Given the description of an element on the screen output the (x, y) to click on. 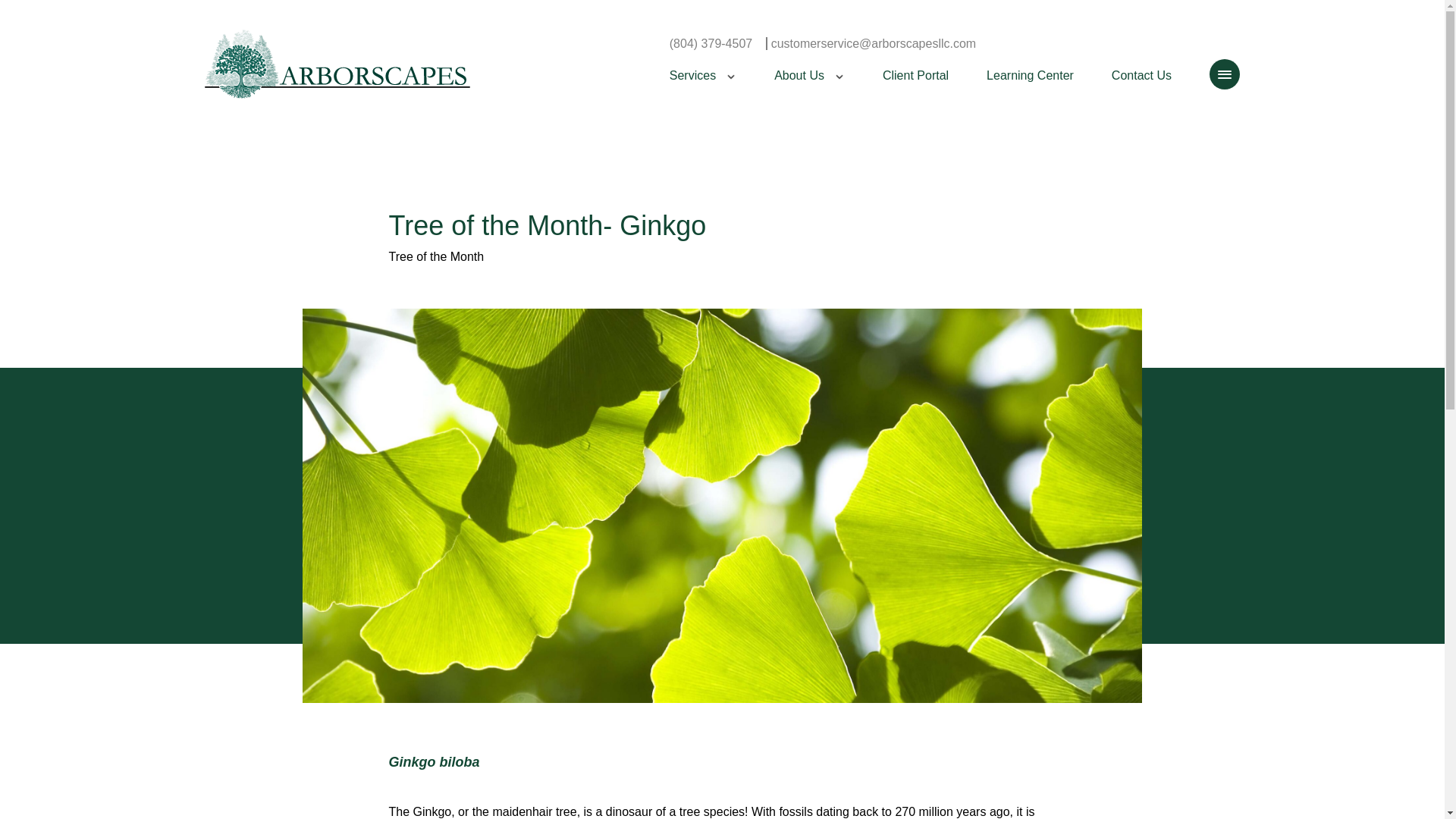
Client Portal (915, 93)
About Us (809, 93)
Contact Us (1142, 93)
Learning Center (1030, 93)
Services (702, 93)
